Given the description of an element on the screen output the (x, y) to click on. 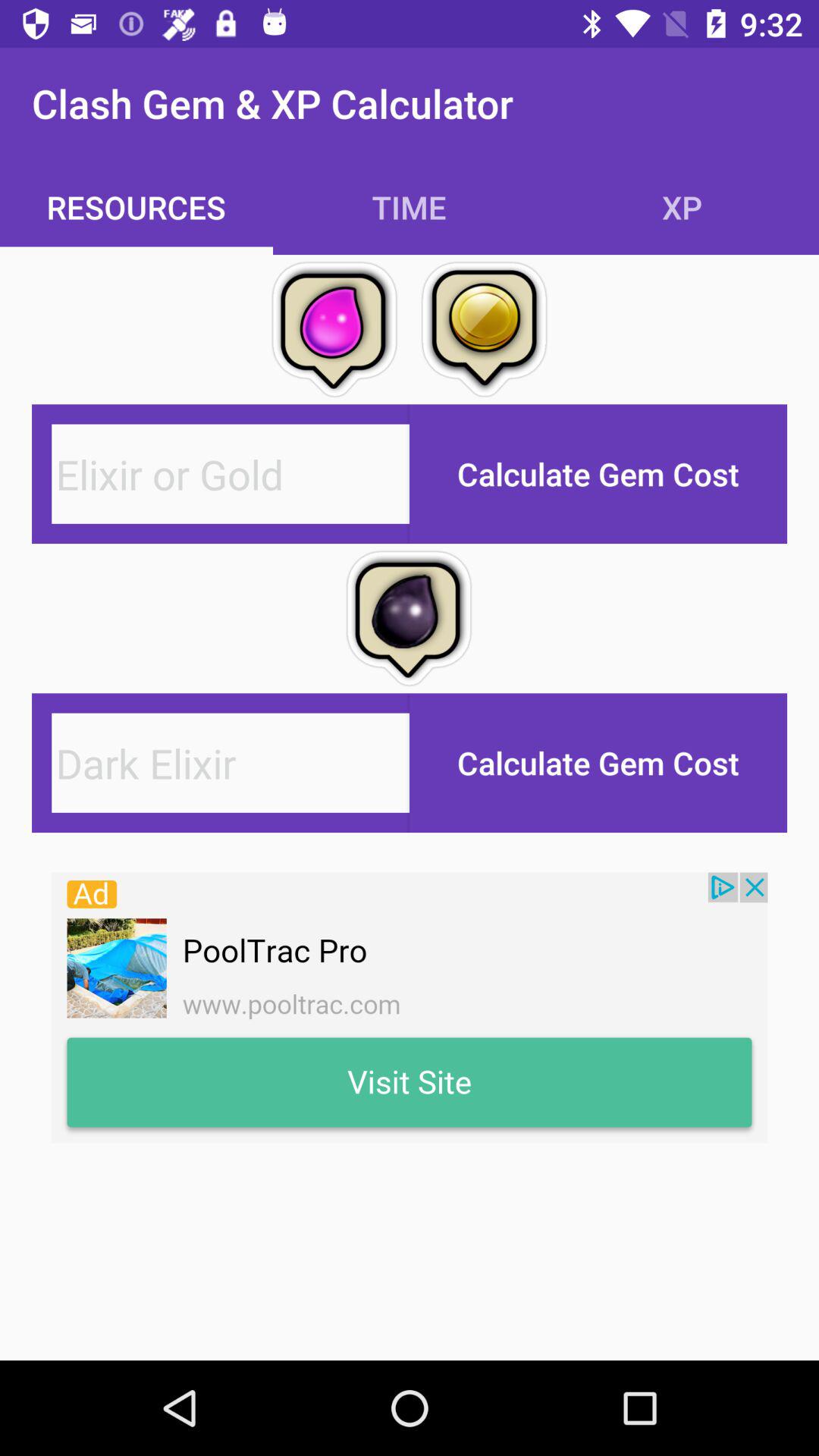
formula page (230, 473)
